Given the description of an element on the screen output the (x, y) to click on. 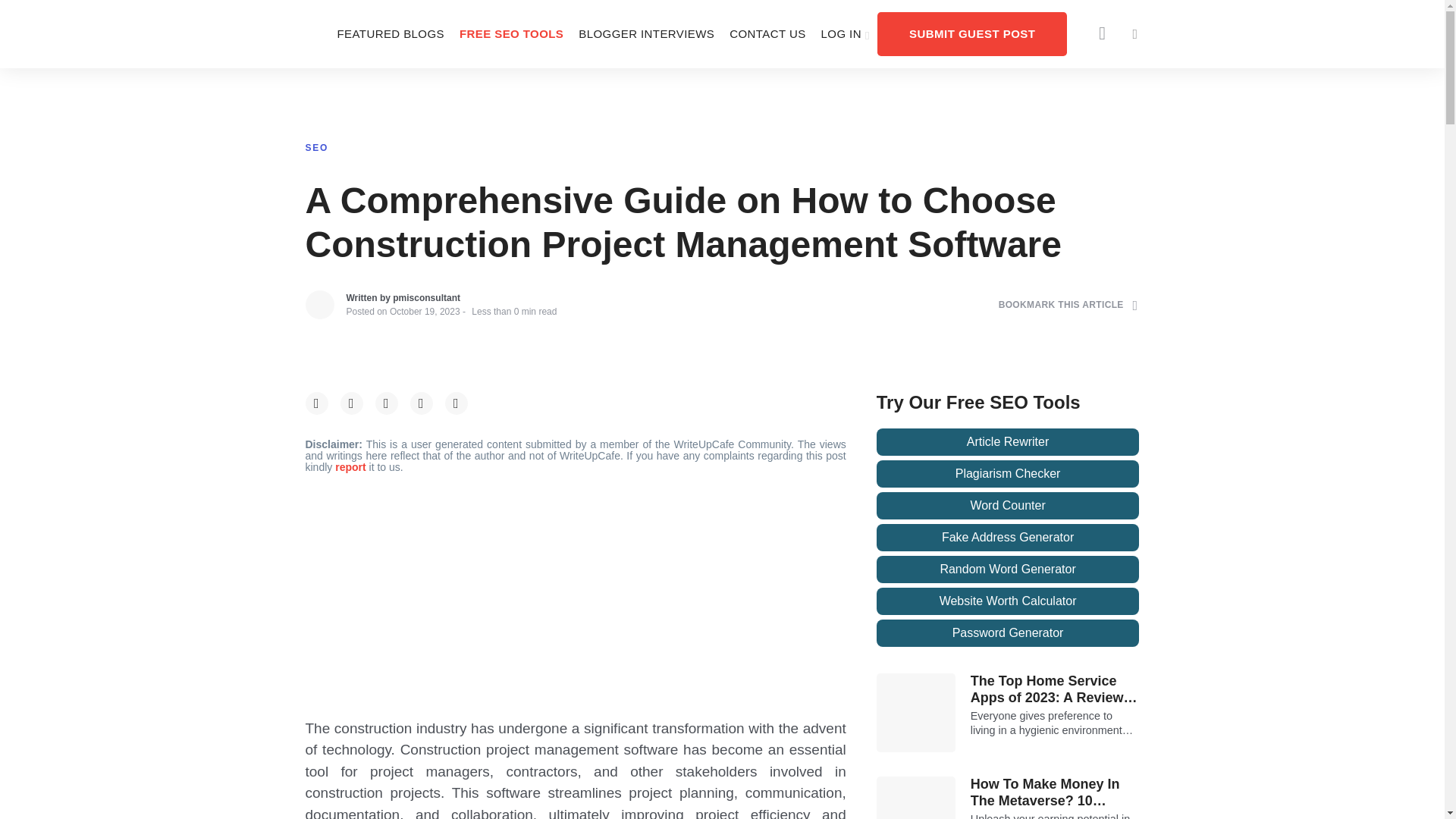
Random Word Generator (1008, 569)
FREE SEO TOOLS (510, 33)
Password Generator (1008, 633)
CONTACT US (767, 33)
Website Worth Calculator (1008, 601)
Fake Address Generator (1008, 537)
SUBMIT GUEST POST (972, 33)
Plagiarism Checker (1008, 473)
BOOKMARK THIS ARTICLE (1068, 304)
BLOGGER INTERVIEWS (646, 33)
LOG IN (845, 33)
SUBMIT GUEST POST (972, 33)
Article Rewriter (1008, 441)
